Given the description of an element on the screen output the (x, y) to click on. 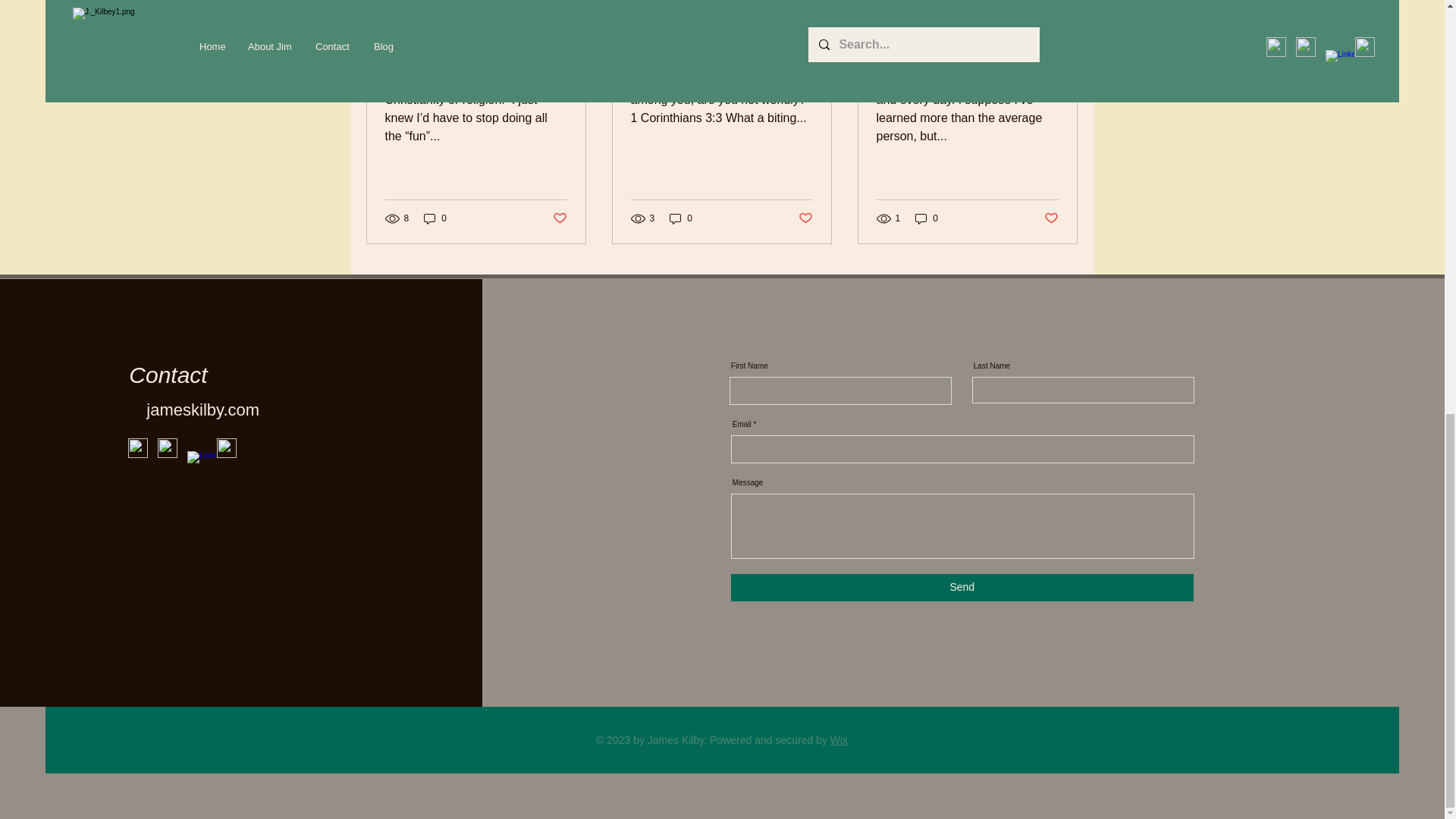
Post not marked as liked (558, 218)
Students? (967, 34)
Post not marked as liked (804, 218)
0 (435, 217)
Worldly? (721, 34)
0 (681, 217)
Scrub Up? (476, 34)
